Given the description of an element on the screen output the (x, y) to click on. 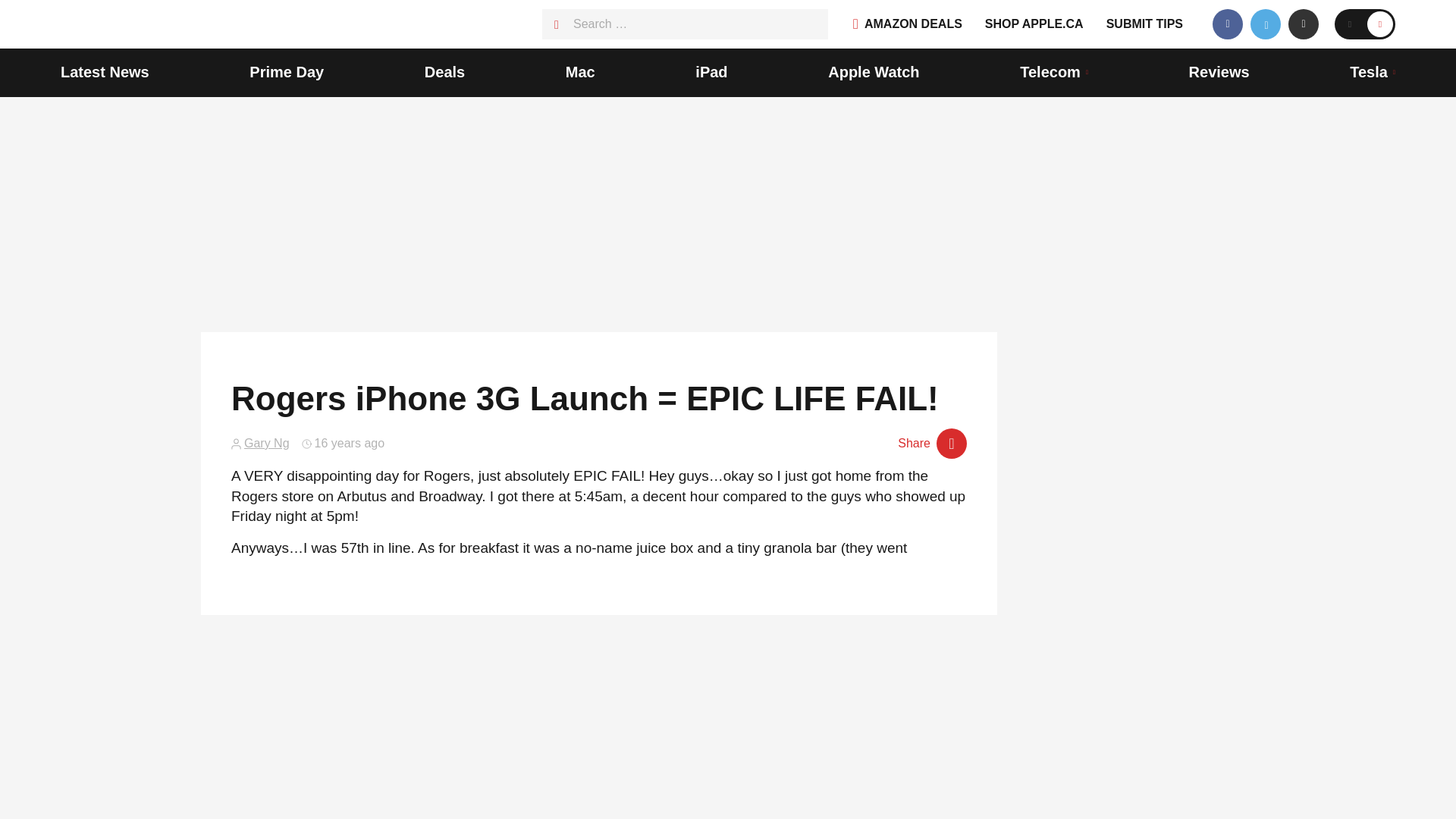
Latest News (105, 72)
Gary Ng (266, 443)
Prime Day (285, 72)
Reviews (1219, 72)
Apple Watch (873, 72)
Share (932, 443)
Search for: (684, 24)
SHOP APPLE.CA (1034, 23)
AMAZON DEALS (907, 23)
SUBMIT TIPS (1144, 23)
